Given the description of an element on the screen output the (x, y) to click on. 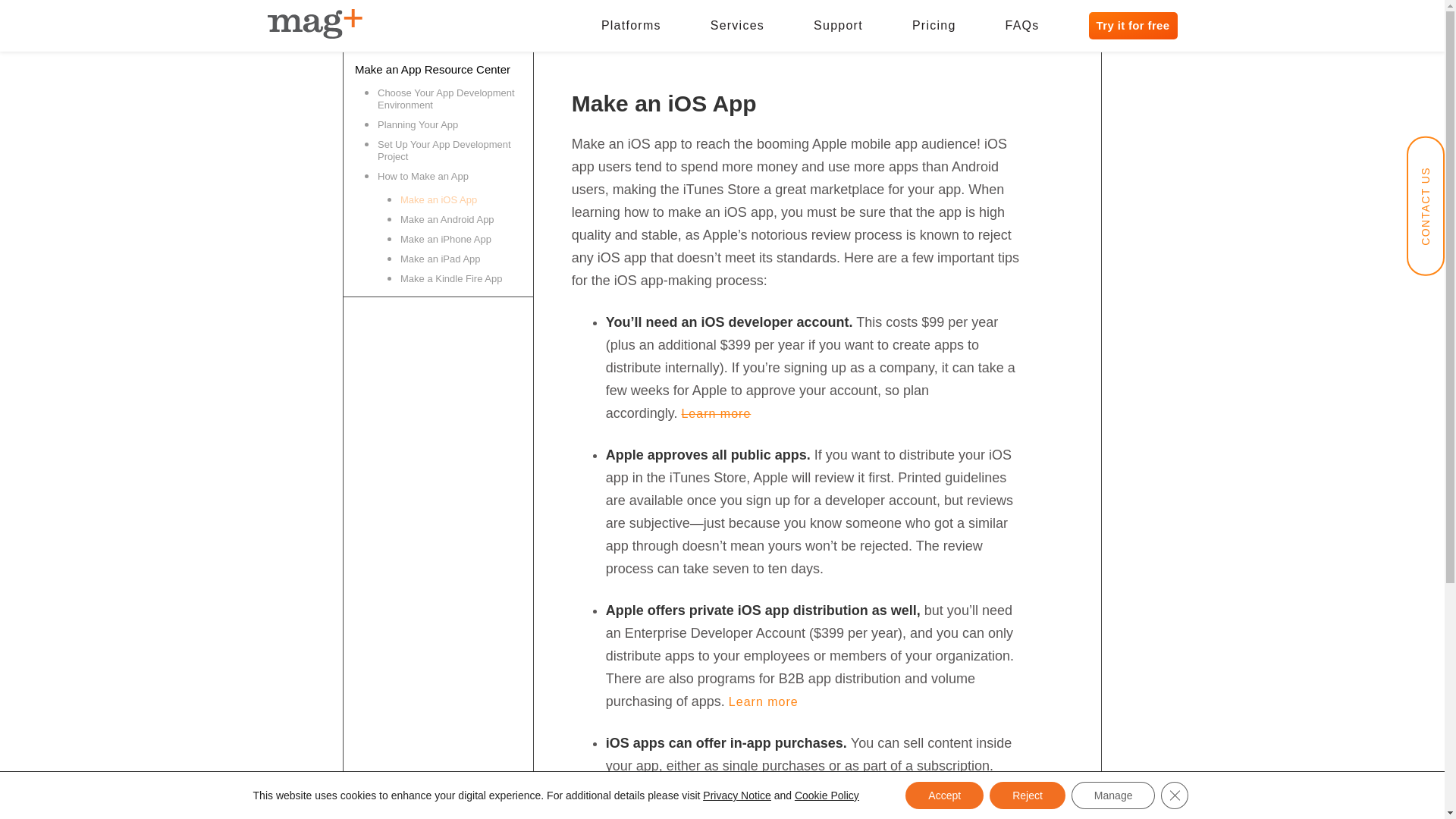
Platforms (631, 25)
Learn more (763, 701)
Services (737, 25)
Set Up Your App Development Project (449, 151)
Make an Android App (460, 219)
Choose Your App Development Environment (449, 99)
Planning Your App (449, 125)
Apple Developer Program (716, 413)
Make an iPad App (460, 259)
How to Make an App (449, 176)
Magplus Logo (314, 24)
Make an iPhone App (460, 239)
Make a Kindle Fire App (460, 279)
Make an App Resource Center (438, 69)
Make an iOS App (460, 199)
